Given the description of an element on the screen output the (x, y) to click on. 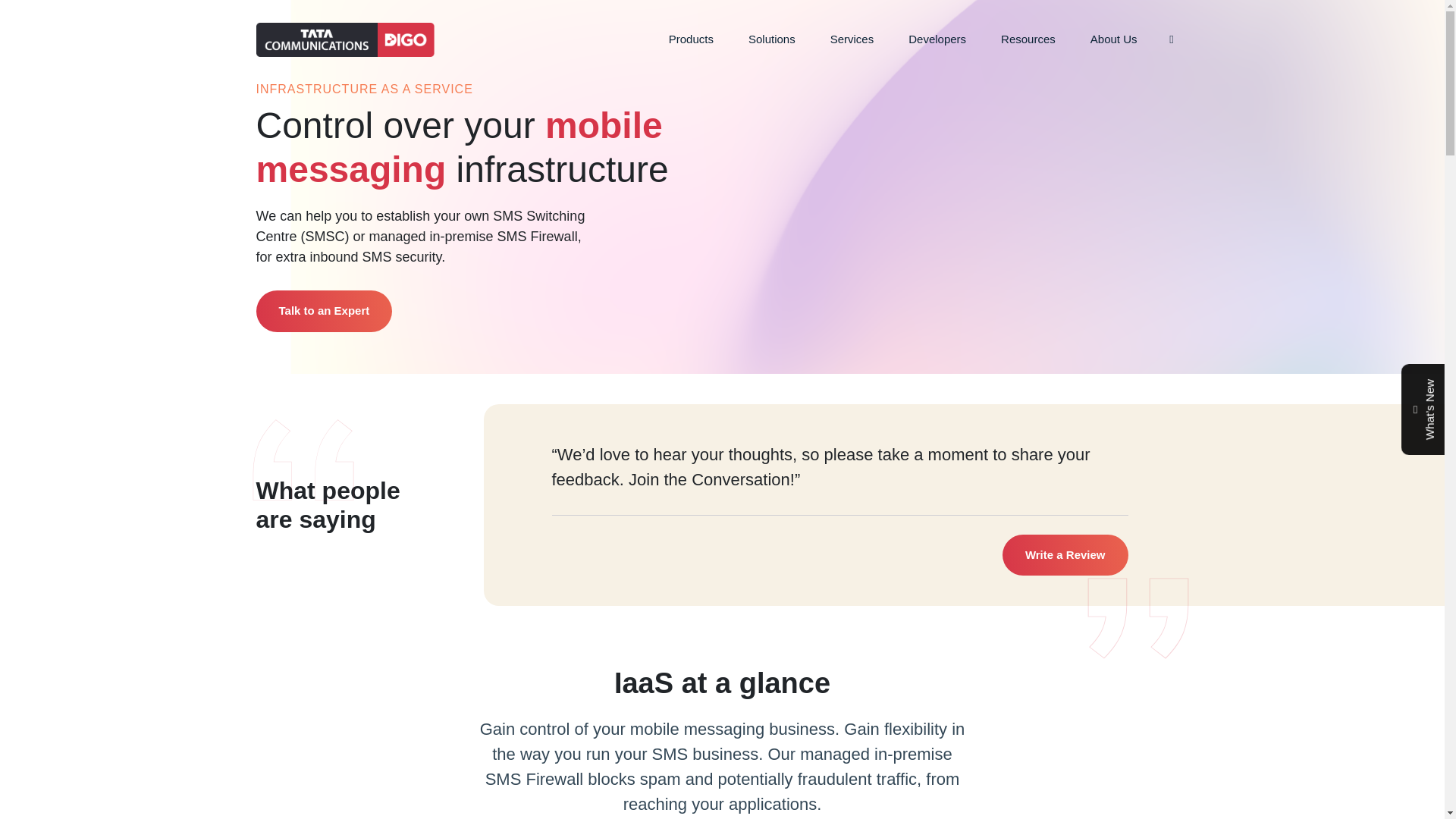
Solutions (771, 39)
Products (690, 39)
